Given the description of an element on the screen output the (x, y) to click on. 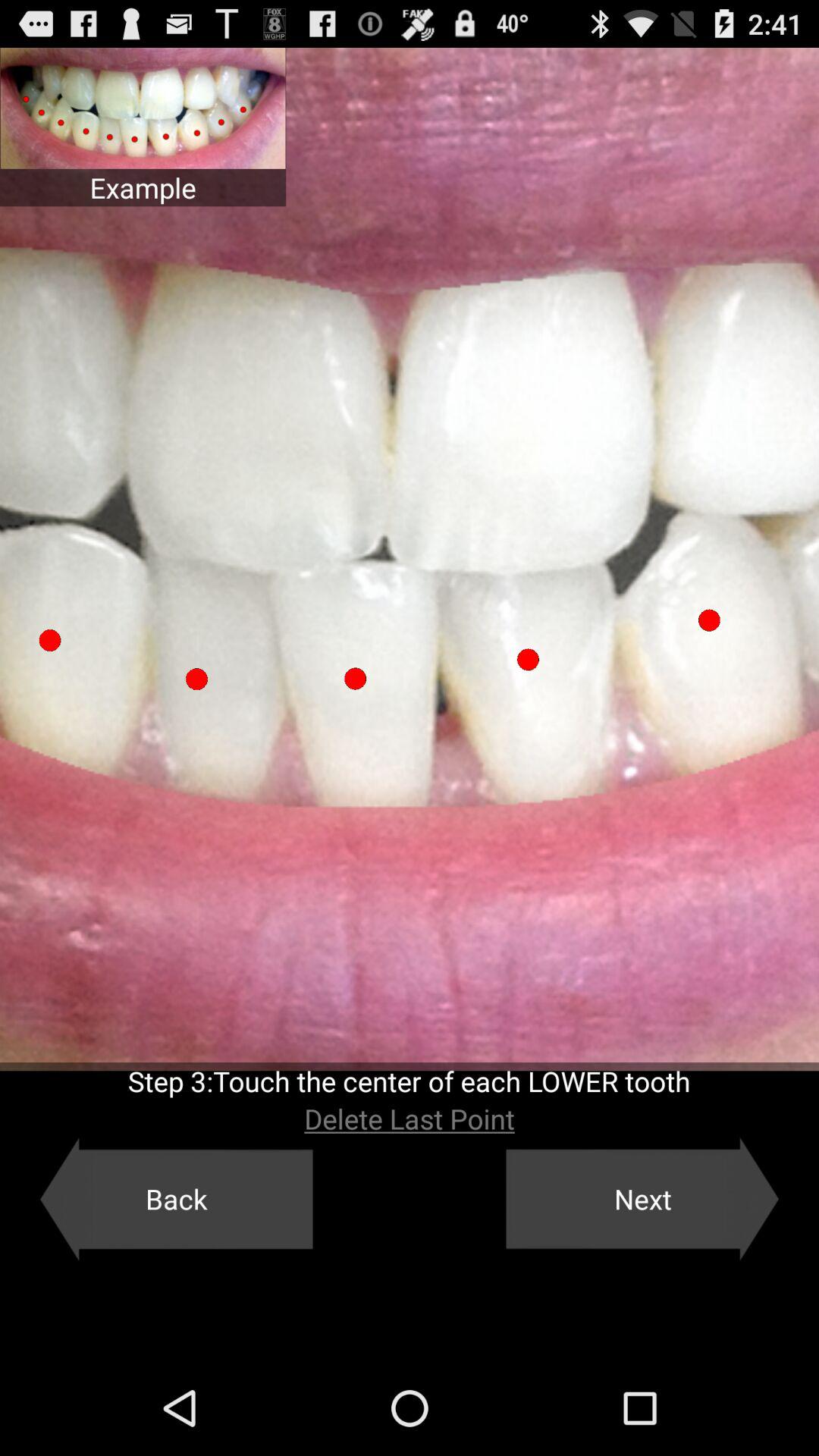
select icon below the step 3 touch item (409, 1118)
